Given the description of an element on the screen output the (x, y) to click on. 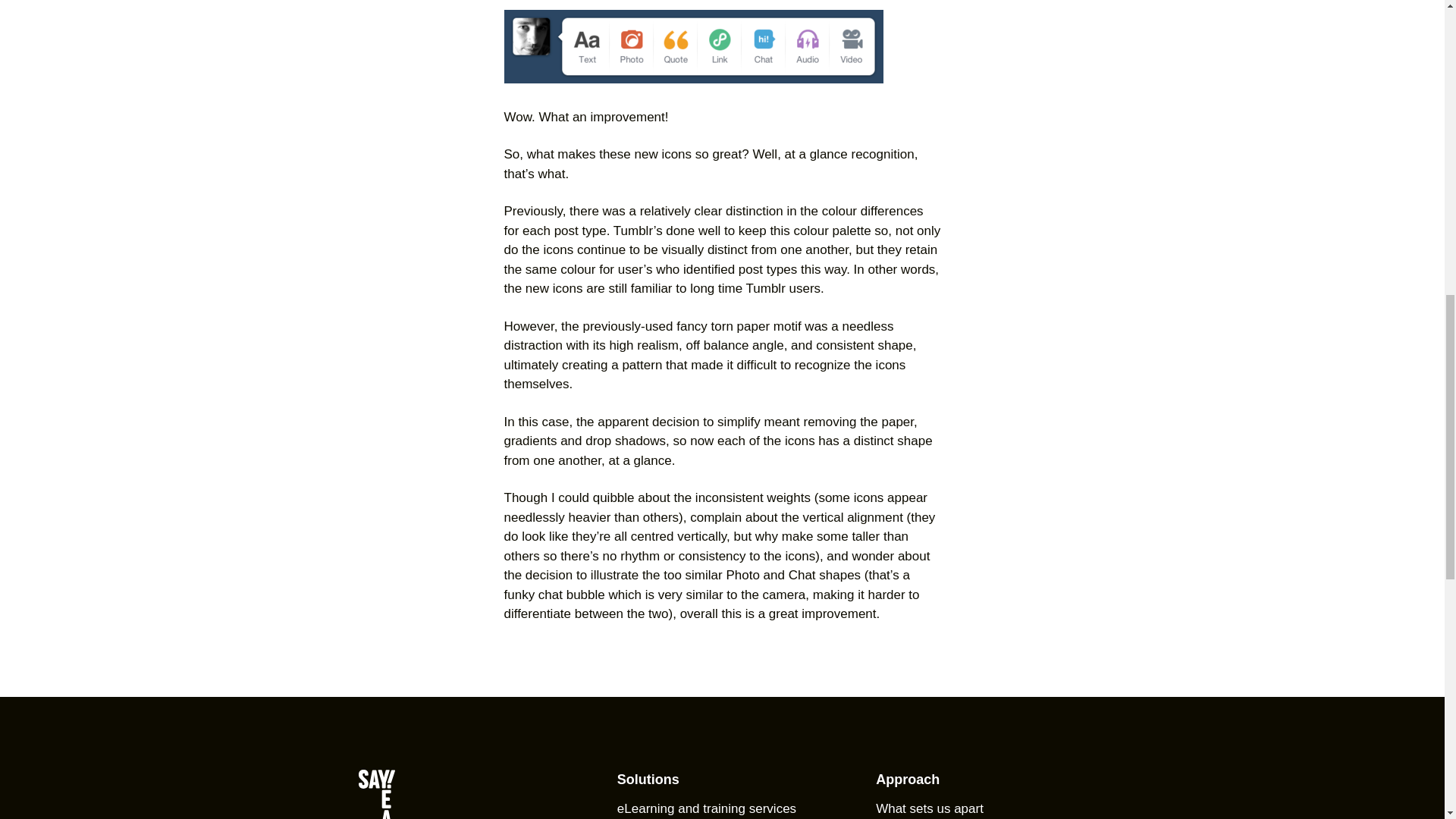
What sets us apart (930, 807)
Approach (907, 779)
Solutions (648, 779)
eLearning and training services (706, 807)
Say Yeah! Home (462, 794)
